Given the description of an element on the screen output the (x, y) to click on. 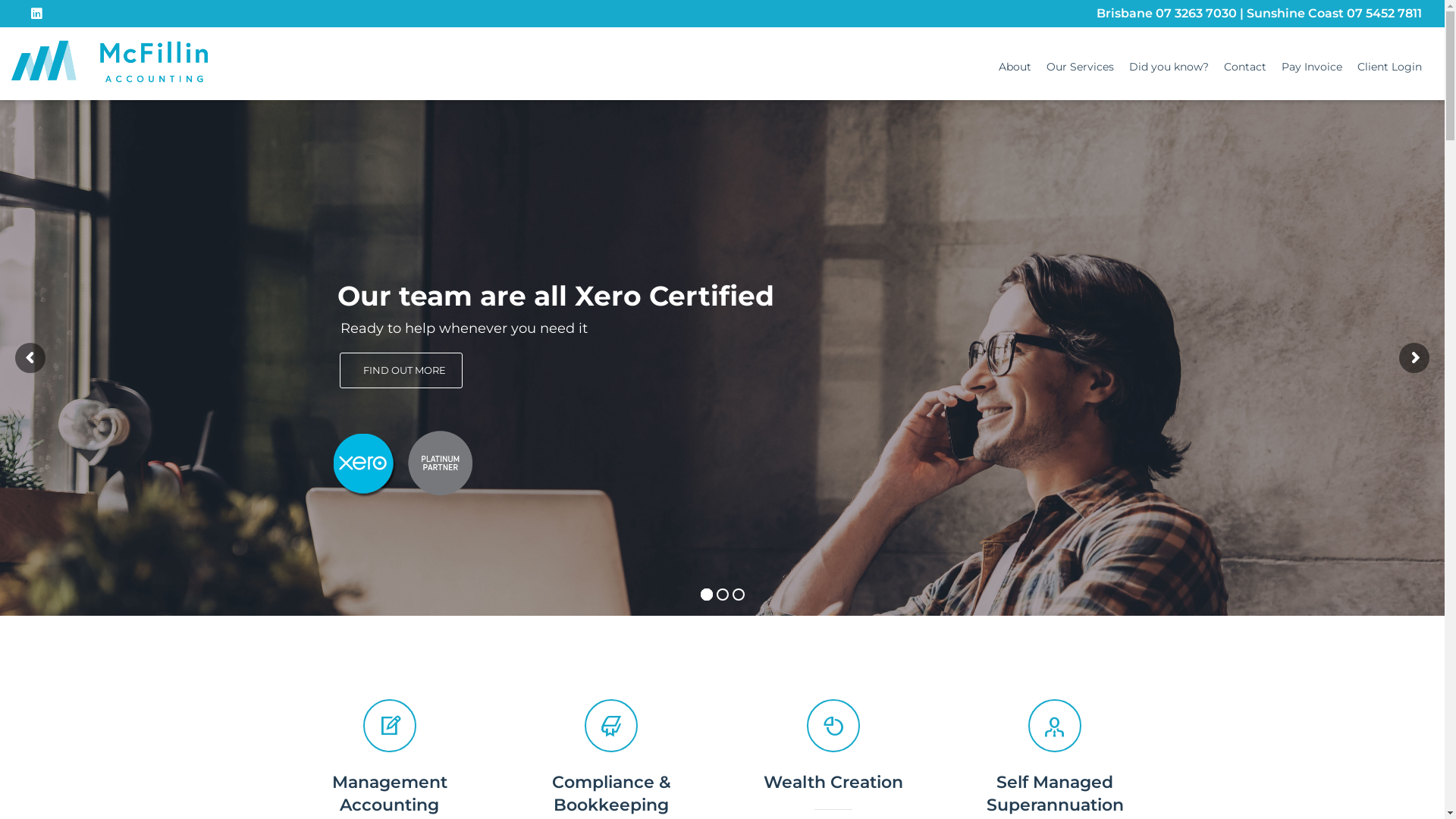
Pay Invoice Element type: text (1311, 67)
About Element type: text (1014, 67)
Contact Element type: text (1244, 67)
Client Login Element type: text (1389, 67)
Did you know? Element type: text (1168, 67)
Our Services Element type: text (1079, 67)
